Given the description of an element on the screen output the (x, y) to click on. 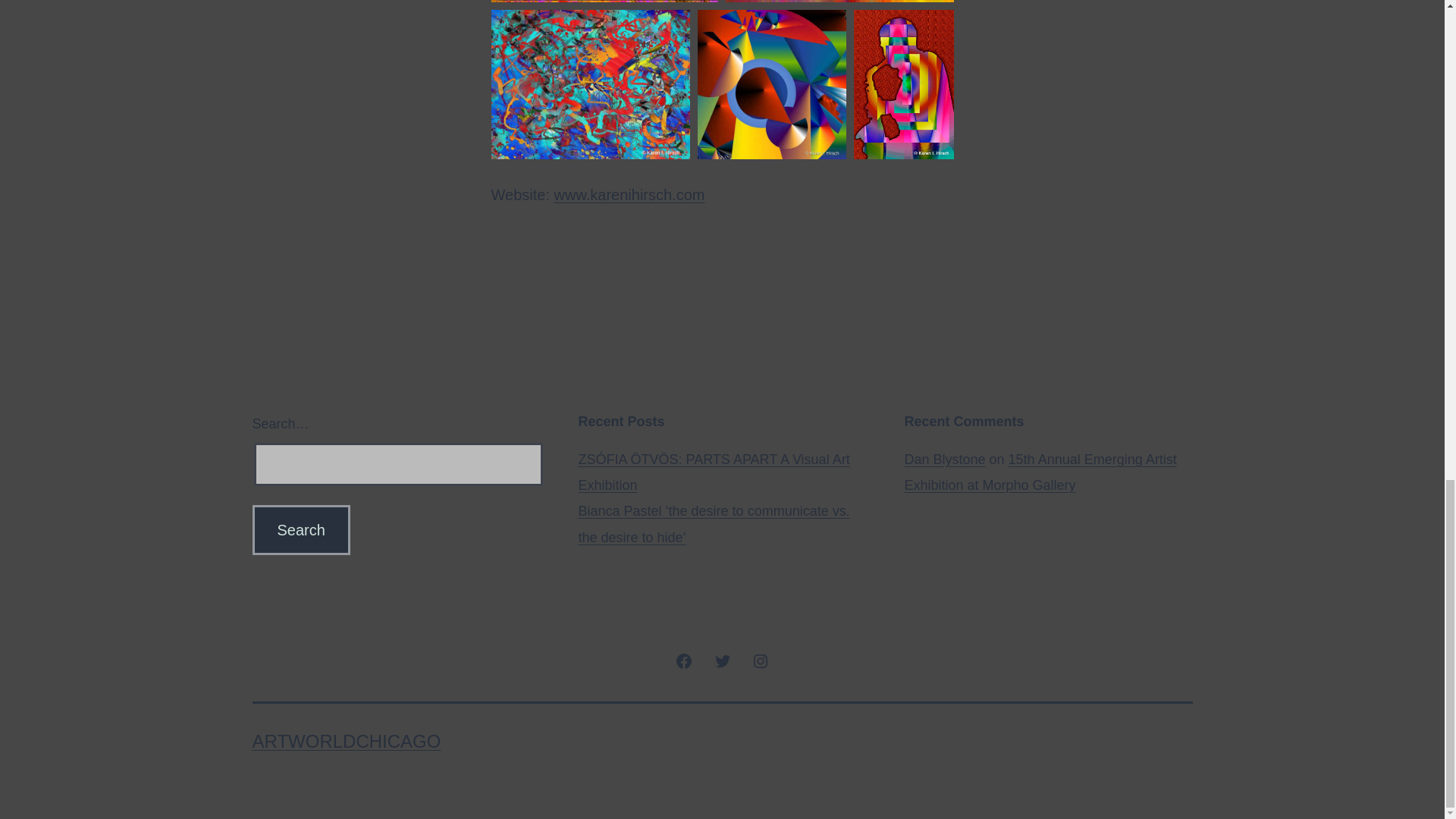
rainbowcircles6-copy (771, 83)
abstract (839, 1)
frenetic (591, 83)
Instagram (759, 660)
www.karenihirsch.com (628, 194)
Search (300, 530)
Dan Blystone (944, 459)
ARTWORLDCHICAGO (346, 741)
Twitter (722, 660)
Facebook (684, 660)
15th Annual Emerging Artist Exhibition at Morpho Gallery (1040, 472)
Search (300, 530)
Search (300, 530)
